Given the description of an element on the screen output the (x, y) to click on. 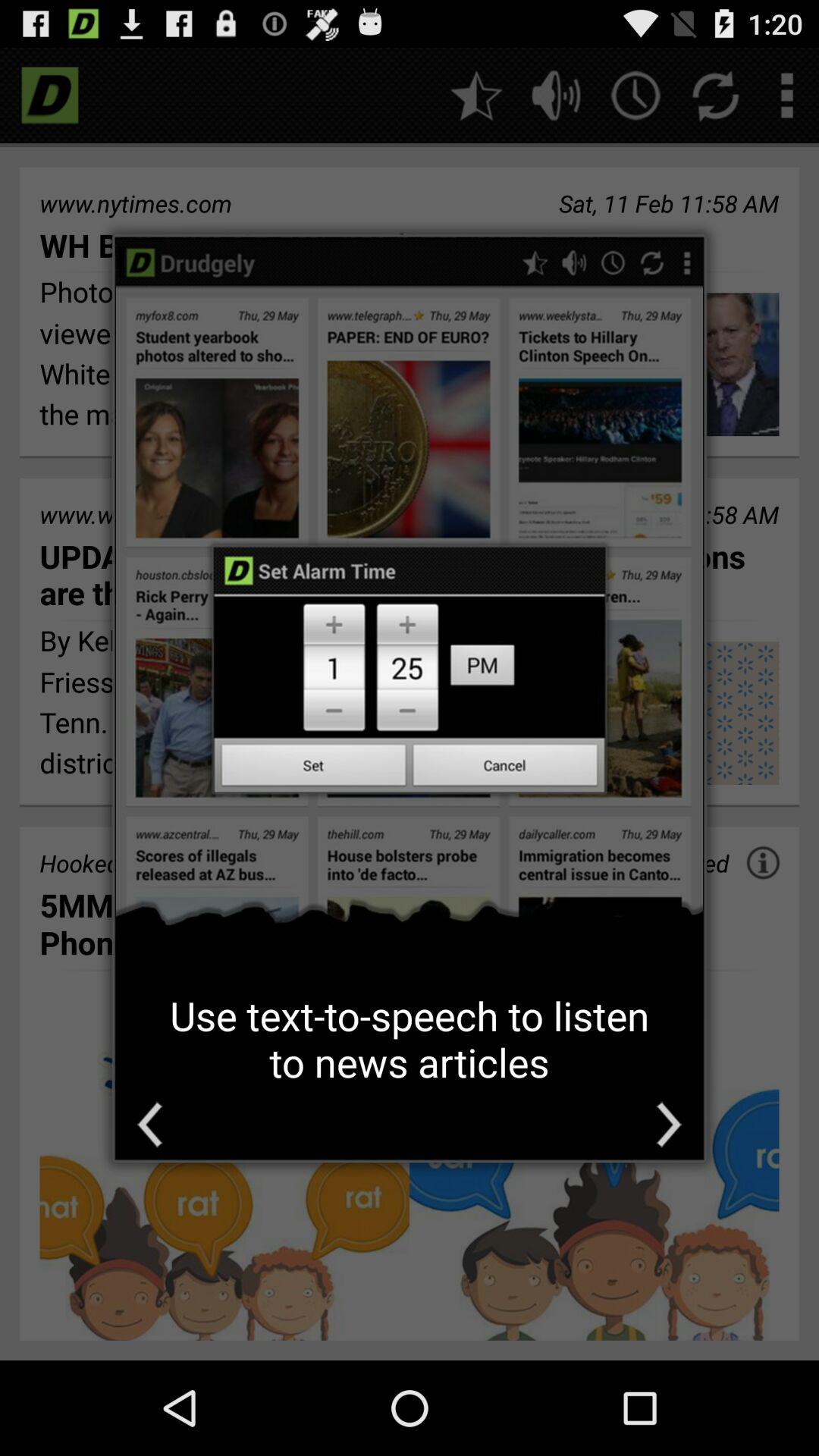
go back (149, 1124)
